Given the description of an element on the screen output the (x, y) to click on. 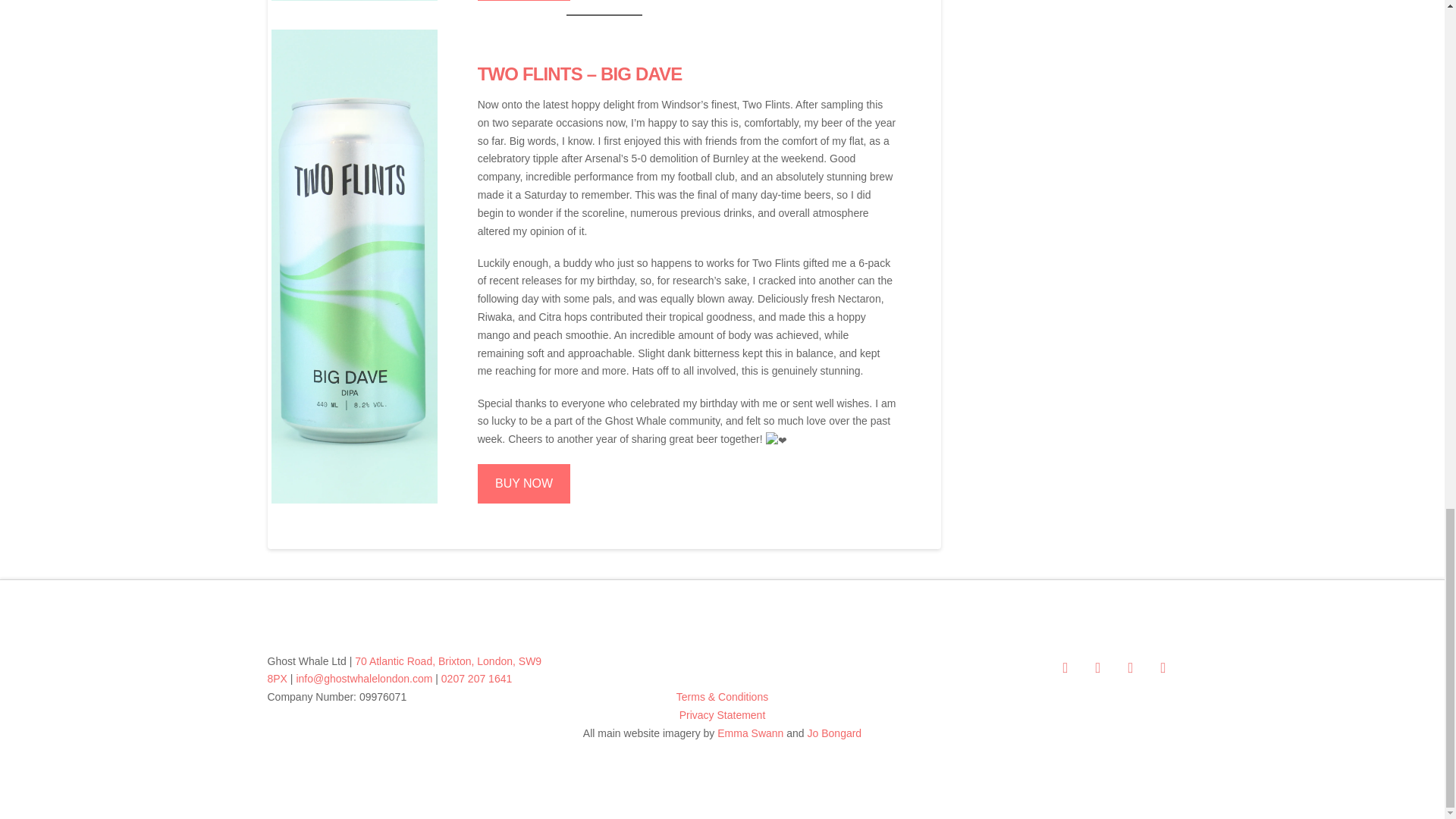
Ghost Whale on Facebook (1064, 667)
Ghost Whale on Spotify (1162, 667)
Ghost Whale on Twitter (1097, 667)
Ghost Whale on Instagram (1130, 667)
BUY NOW (523, 484)
TWO FLINTS (529, 73)
